Given the description of an element on the screen output the (x, y) to click on. 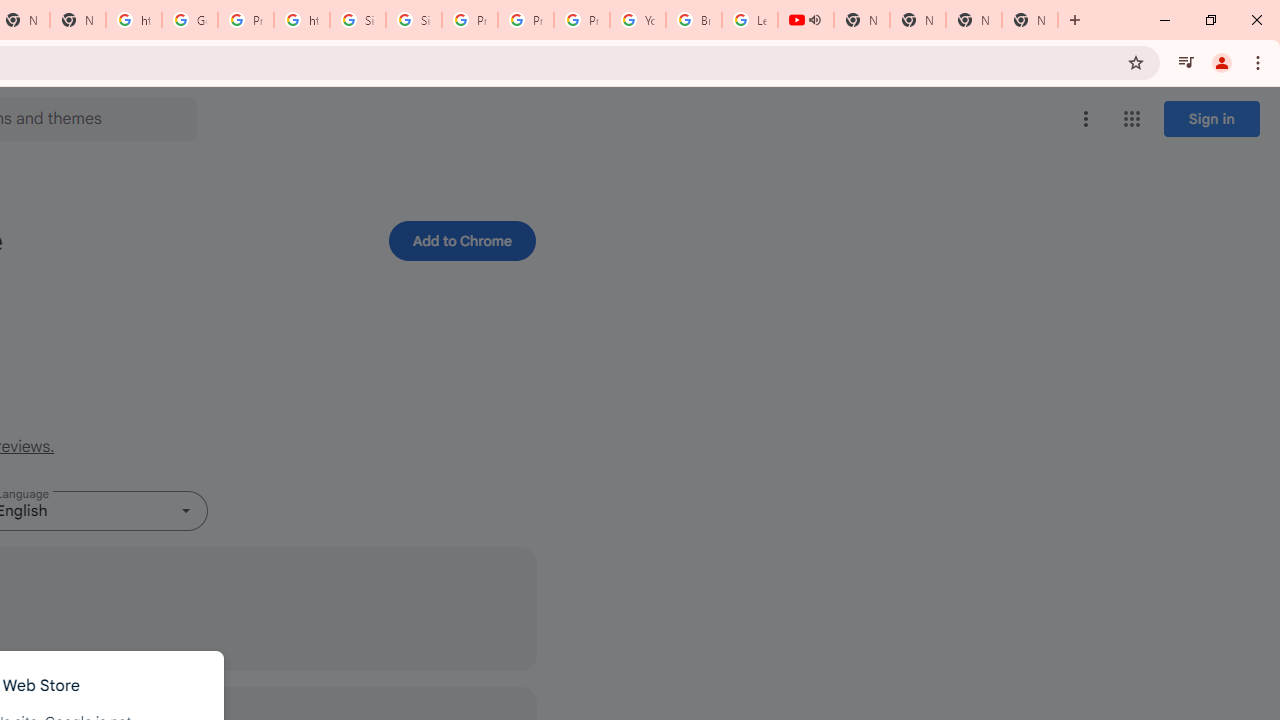
Privacy Help Center - Policies Help (469, 20)
New Tab (1030, 20)
https://scholar.google.com/ (134, 20)
Privacy Help Center - Policies Help (525, 20)
YouTube (637, 20)
